Given the description of an element on the screen output the (x, y) to click on. 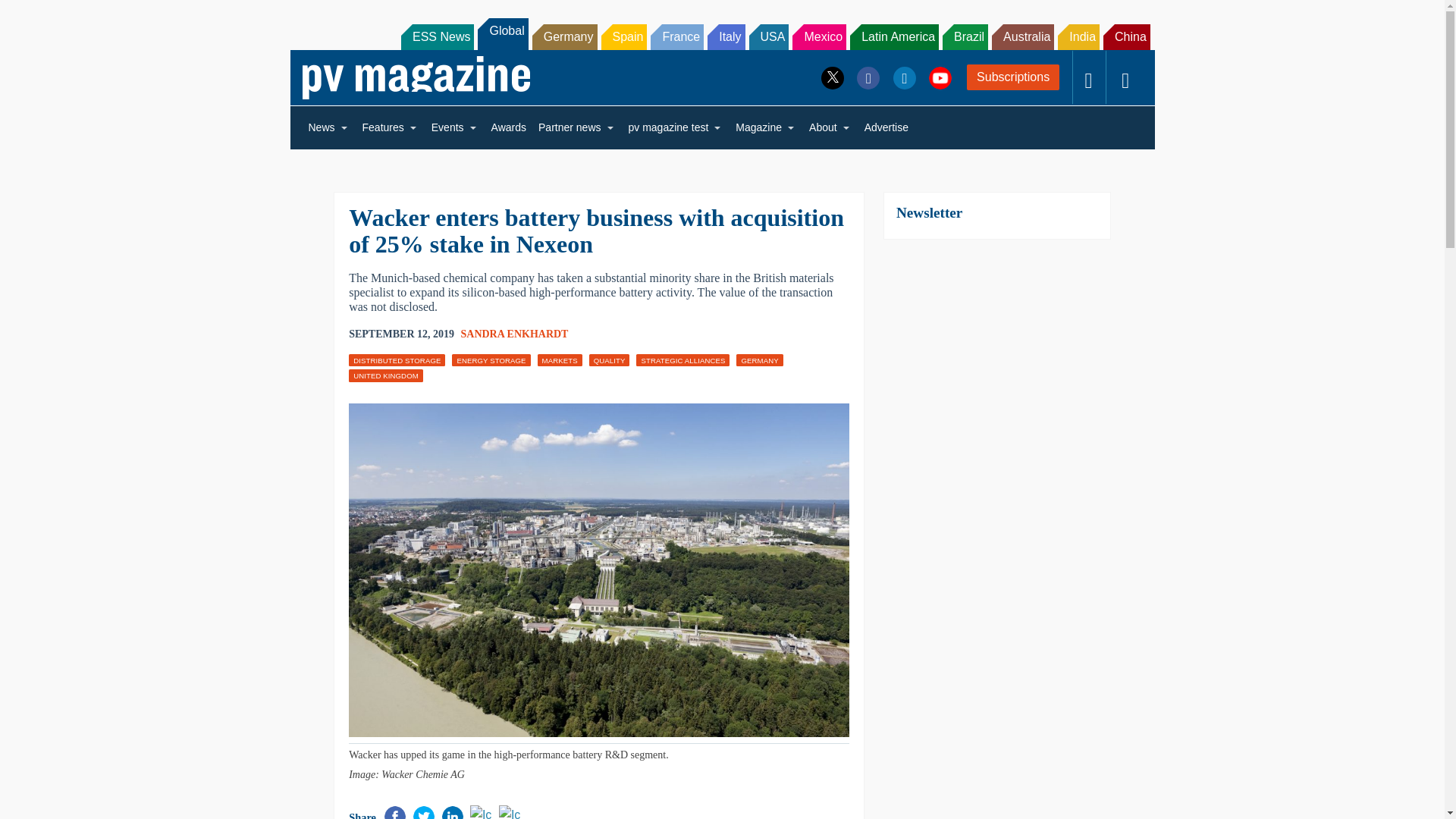
Spain (622, 36)
pv magazine - Photovoltaics Markets and Technology (415, 77)
pv magazine - Photovoltaics Markets and Technology (415, 77)
Germany (564, 36)
USA (769, 36)
India (1078, 36)
Latin America (894, 36)
Subscriptions (1012, 77)
Posts by Sandra Enkhardt (515, 333)
Italy (725, 36)
